Given the description of an element on the screen output the (x, y) to click on. 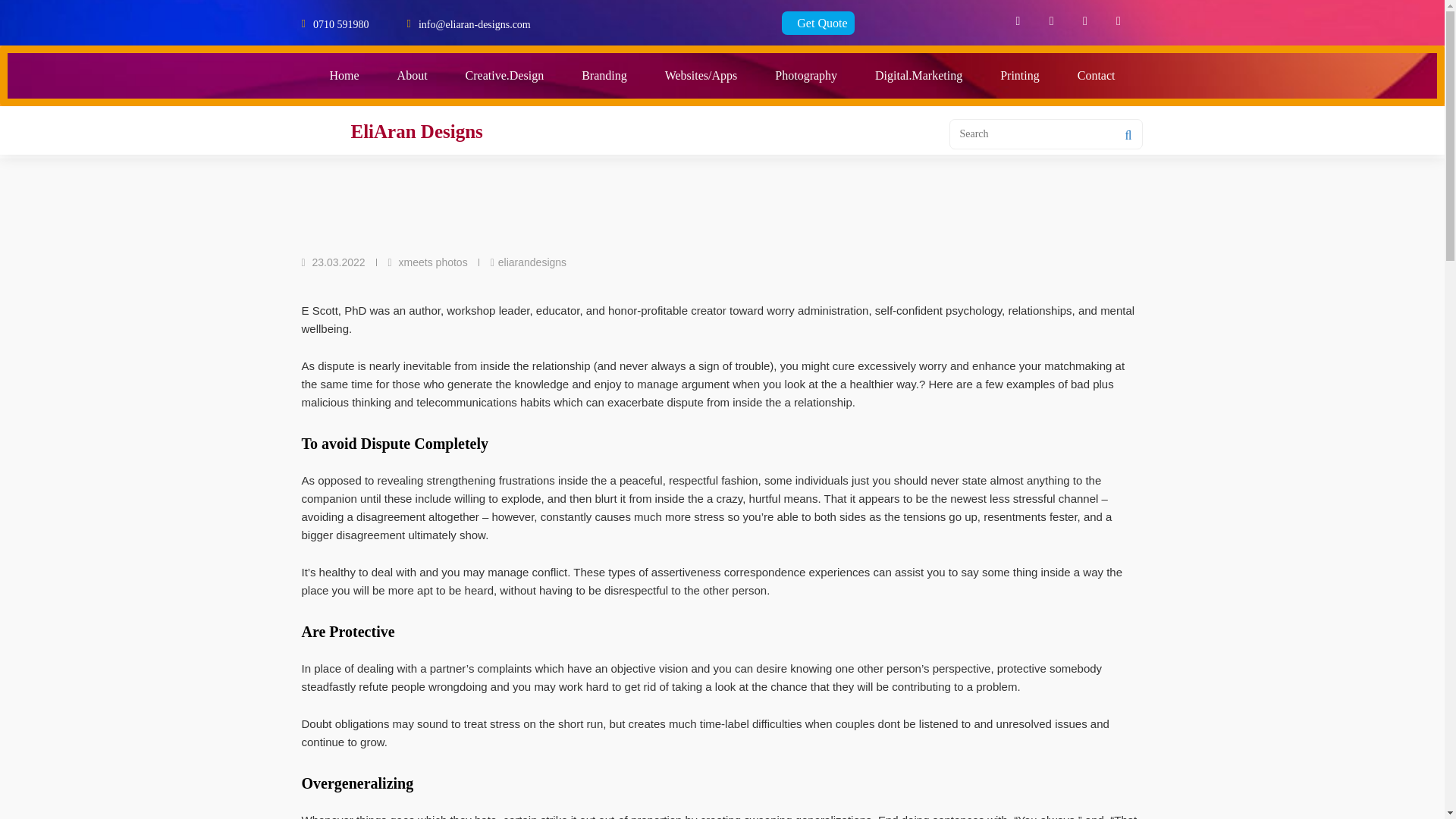
Printing (1019, 75)
About (412, 75)
Get Quote (817, 22)
Contact (1096, 75)
Creative.Design (504, 75)
Branding (604, 75)
0710 591980 (341, 23)
Home (344, 75)
EliAran Designs (415, 131)
Photography (805, 75)
